Given the description of an element on the screen output the (x, y) to click on. 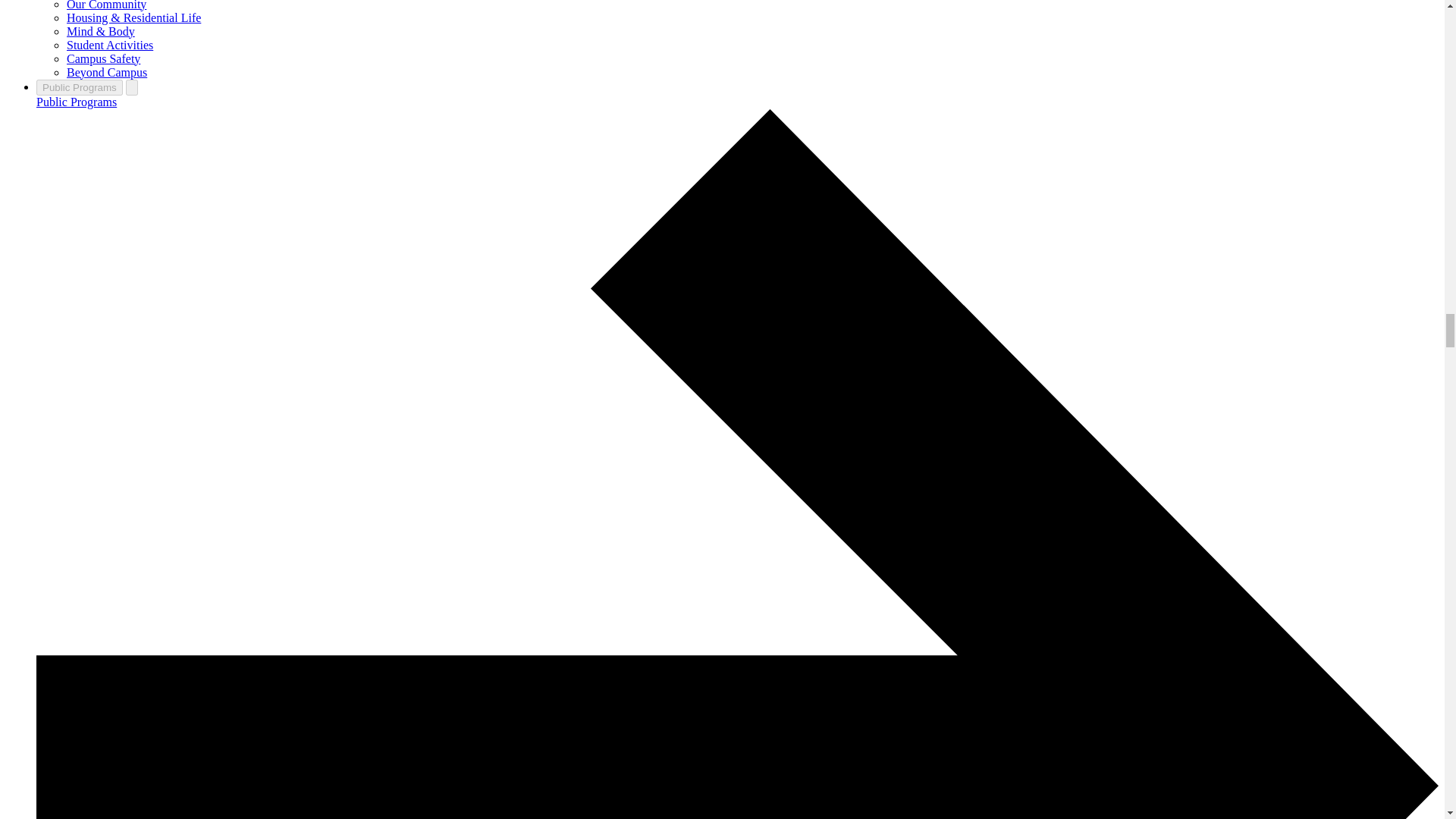
Student Activities (109, 44)
Beyond Campus (106, 72)
Our Community (106, 5)
Campus Safety (102, 58)
